Given the description of an element on the screen output the (x, y) to click on. 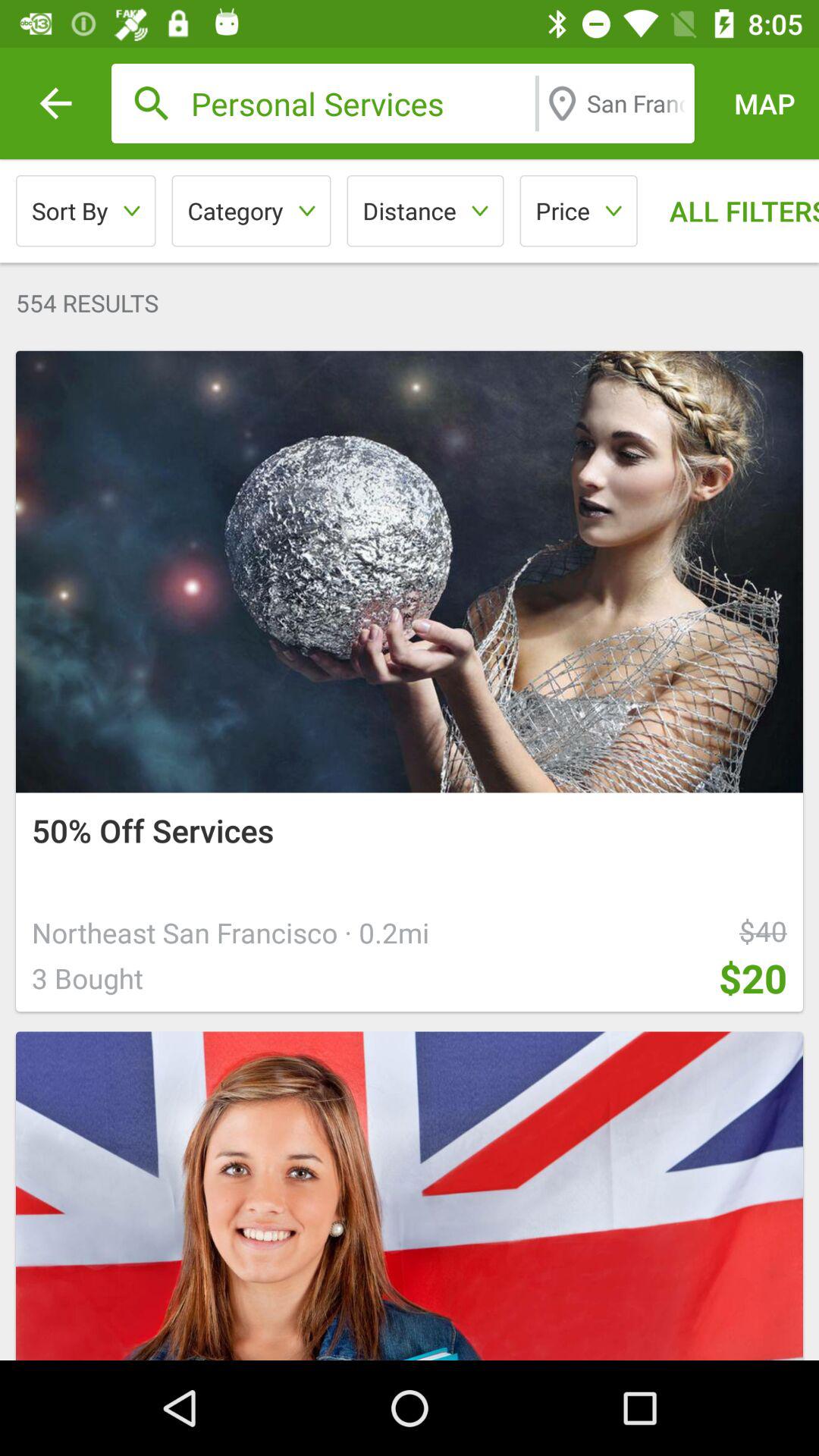
press icon above the 554 results (85, 210)
